Given the description of an element on the screen output the (x, y) to click on. 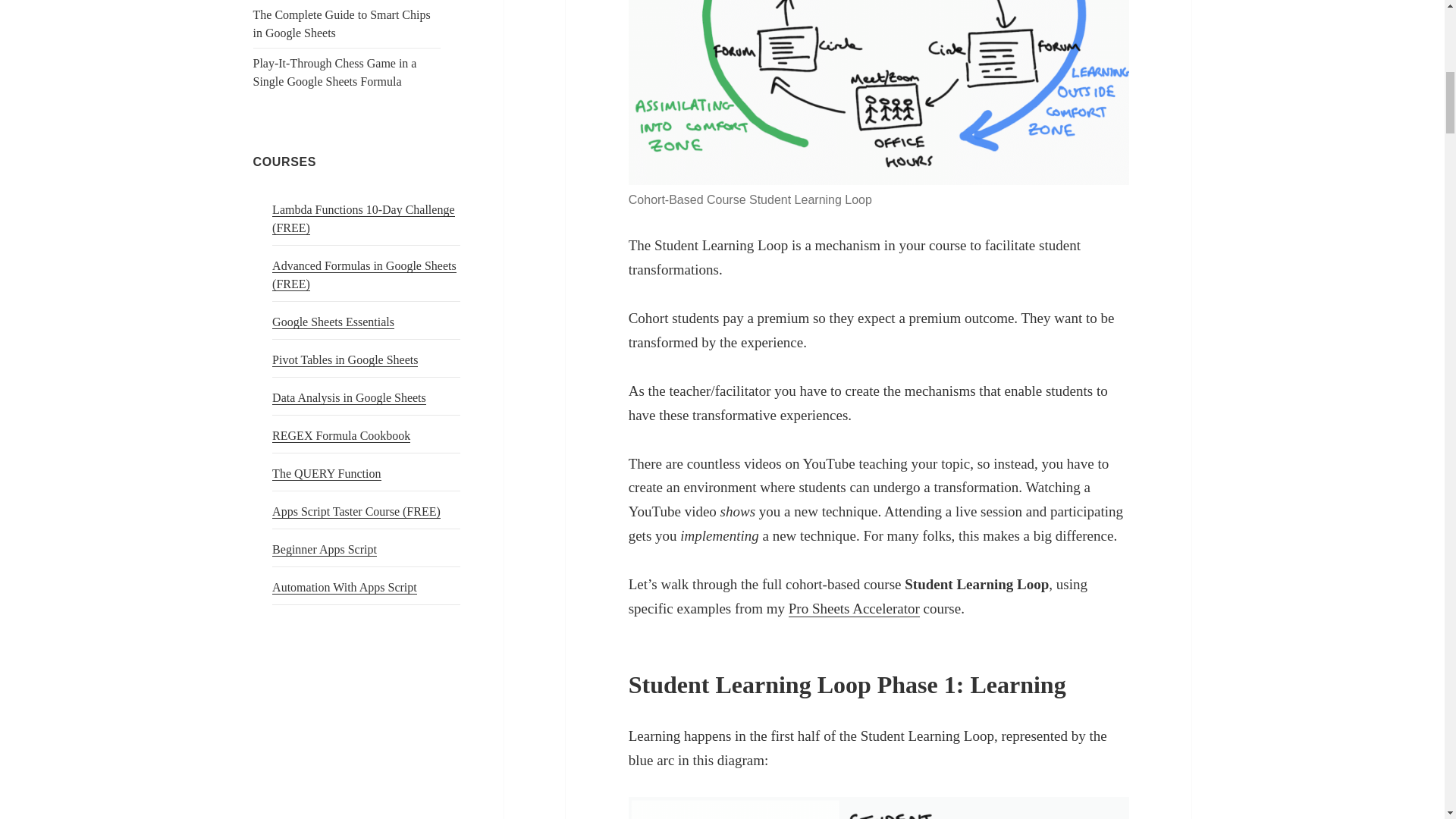
The Complete Guide to Smart Chips in Google Sheets (341, 23)
The QUERY Function (326, 473)
REGEX Formula Cookbook (341, 436)
Google Sheets Essentials (333, 322)
Data Analysis in Google Sheets (349, 397)
Automation With Apps Script (344, 587)
Play-It-Through Chess Game in a Single Google Sheets Formula (334, 71)
Pivot Tables in Google Sheets (344, 359)
Beginner Apps Script (324, 549)
Pro Sheets Accelerator (854, 608)
